Given the description of an element on the screen output the (x, y) to click on. 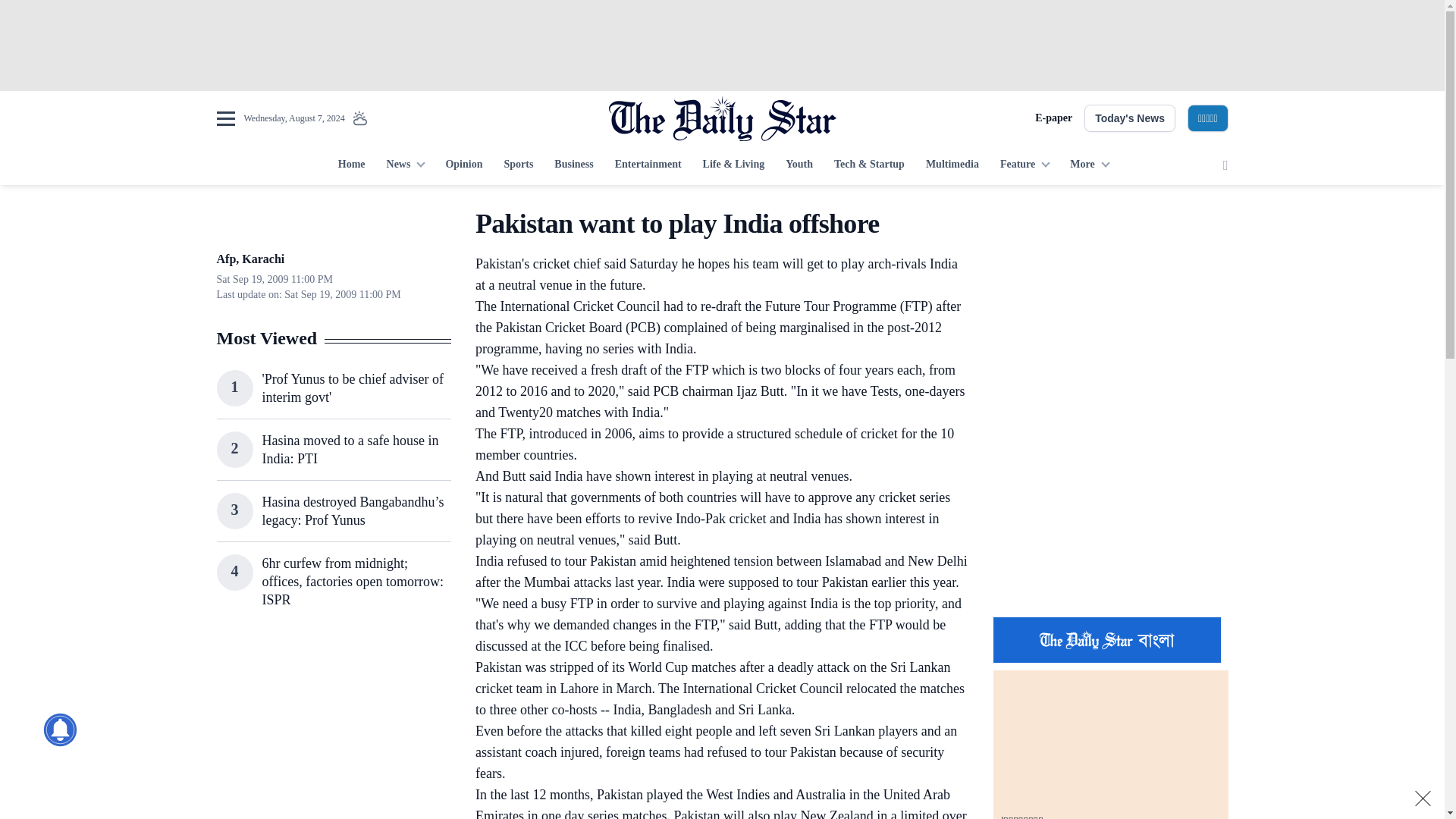
Home (351, 165)
Youth (799, 165)
3rd party ad content (1110, 302)
E-paper (1053, 117)
3rd party ad content (721, 45)
Business (573, 165)
Sports (518, 165)
Feature (1024, 165)
Today's News (1129, 117)
Opinion (463, 165)
Entertainment (647, 165)
3rd party ad content (332, 729)
Multimedia (952, 165)
3rd party ad content (1110, 506)
